Given the description of an element on the screen output the (x, y) to click on. 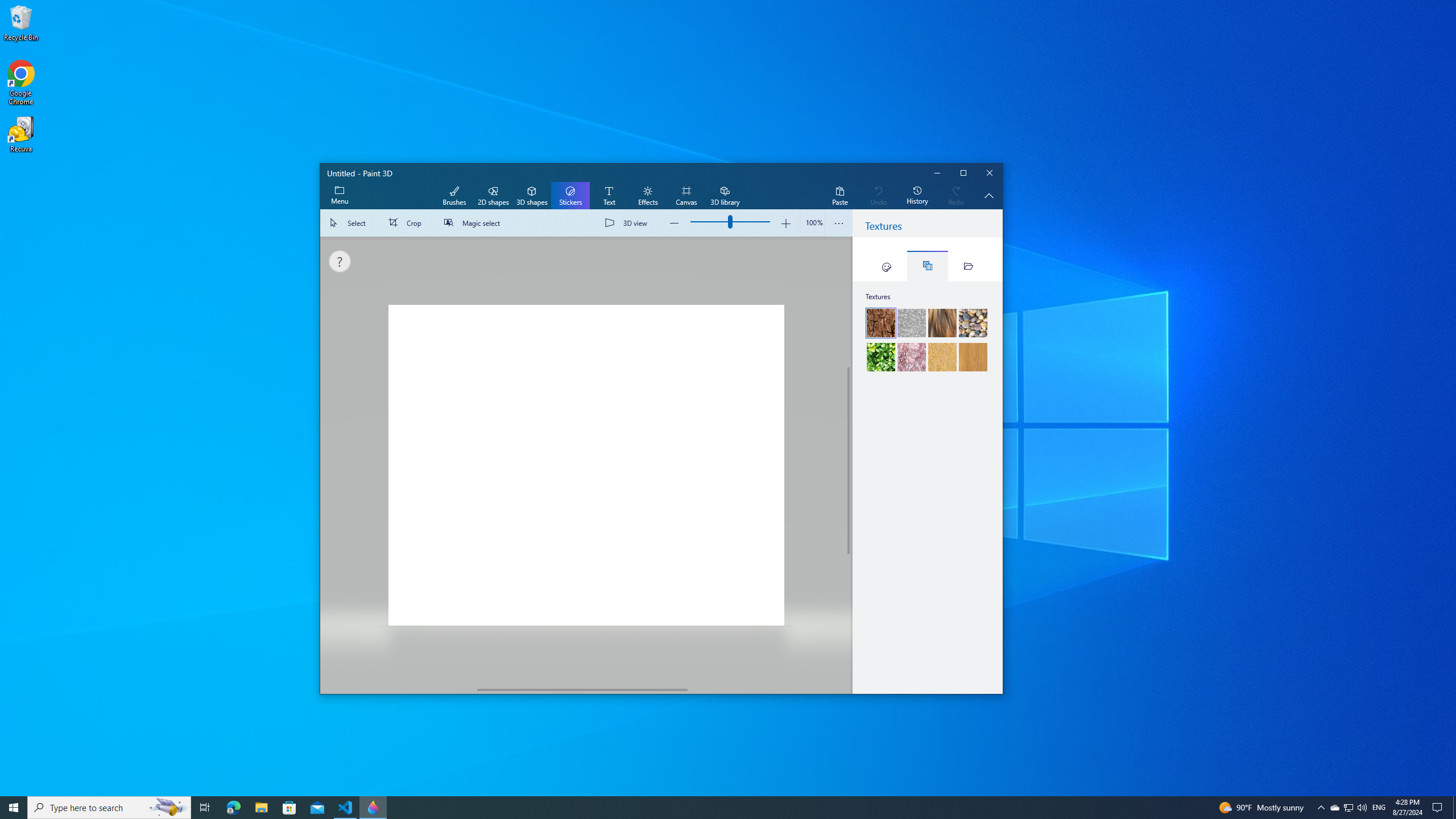
Bark (881, 322)
Running applications (706, 807)
Concrete (911, 322)
Zoom in (785, 222)
Canvas (686, 195)
Hide description (989, 195)
Wood (973, 357)
Vertical (848, 460)
Custom stickers (967, 265)
Zoom slider (812, 222)
View more options (839, 222)
